Given the description of an element on the screen output the (x, y) to click on. 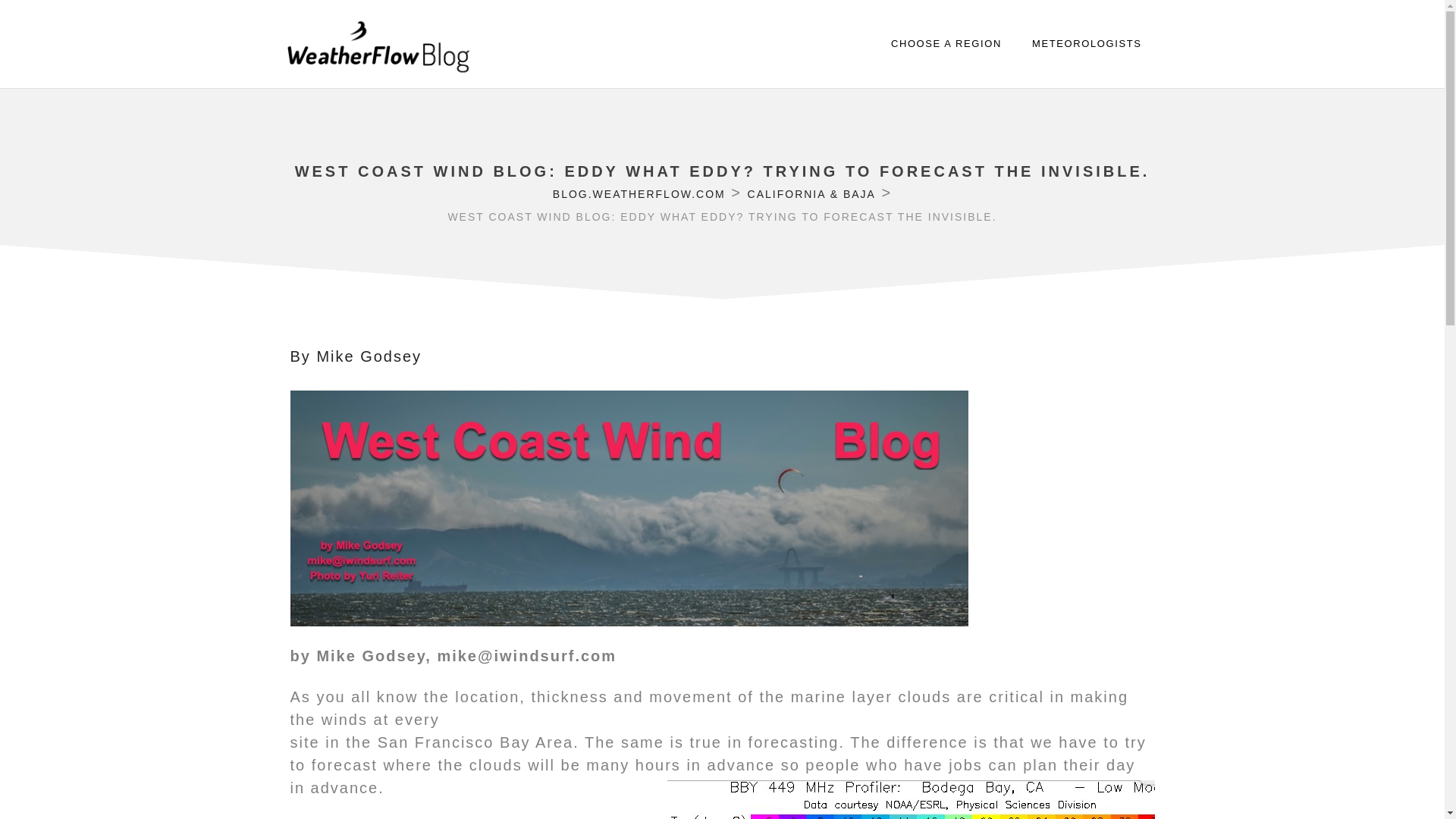
CHOOSE A REGION (946, 43)
Go to Blog.WeatherFlow.com. (639, 194)
METEOROLOGISTS (1086, 43)
